Given the description of an element on the screen output the (x, y) to click on. 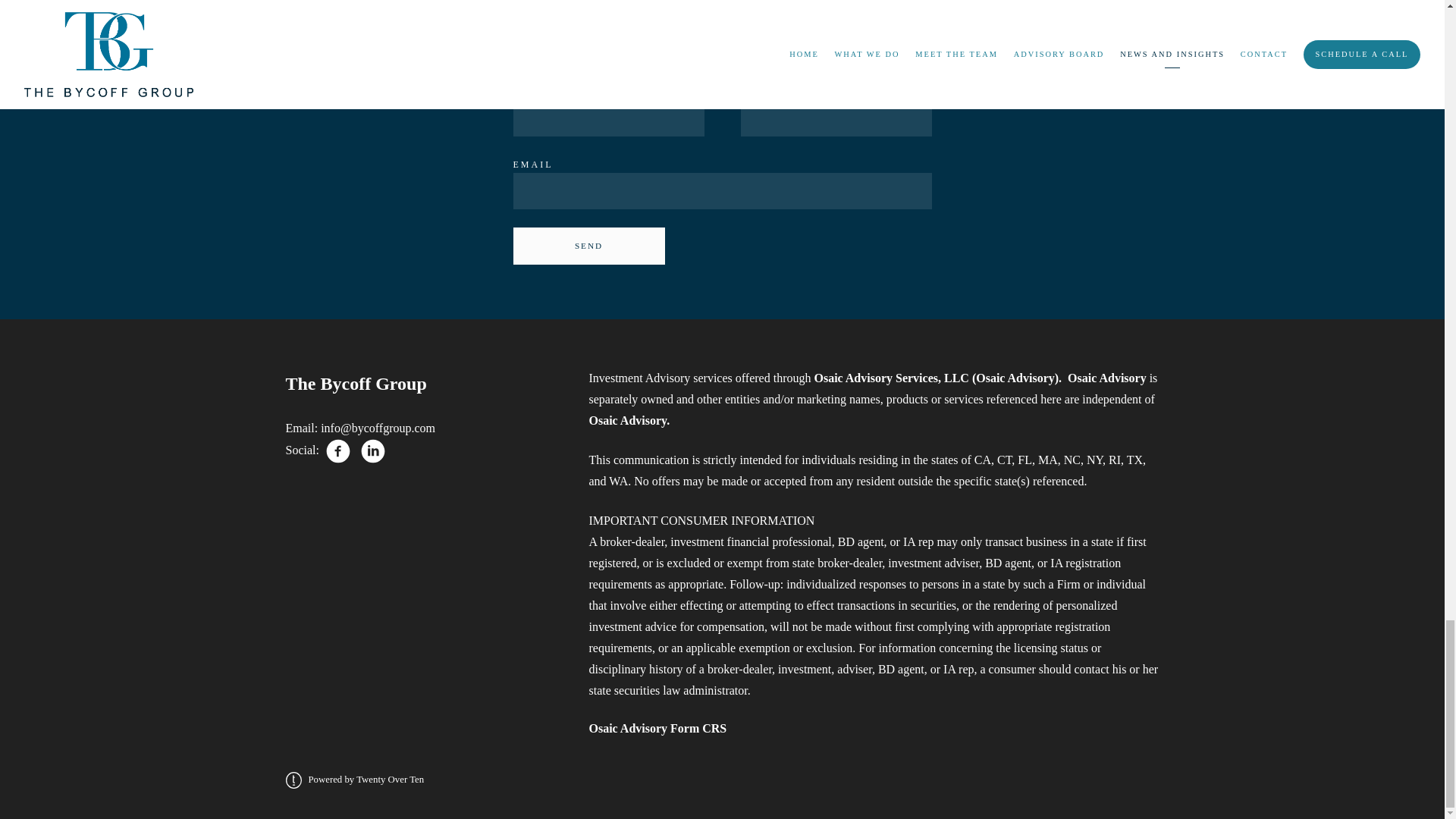
SEND (587, 245)
Form CRS (697, 727)
Powered by Twenty Over Ten (354, 778)
